Given the description of an element on the screen output the (x, y) to click on. 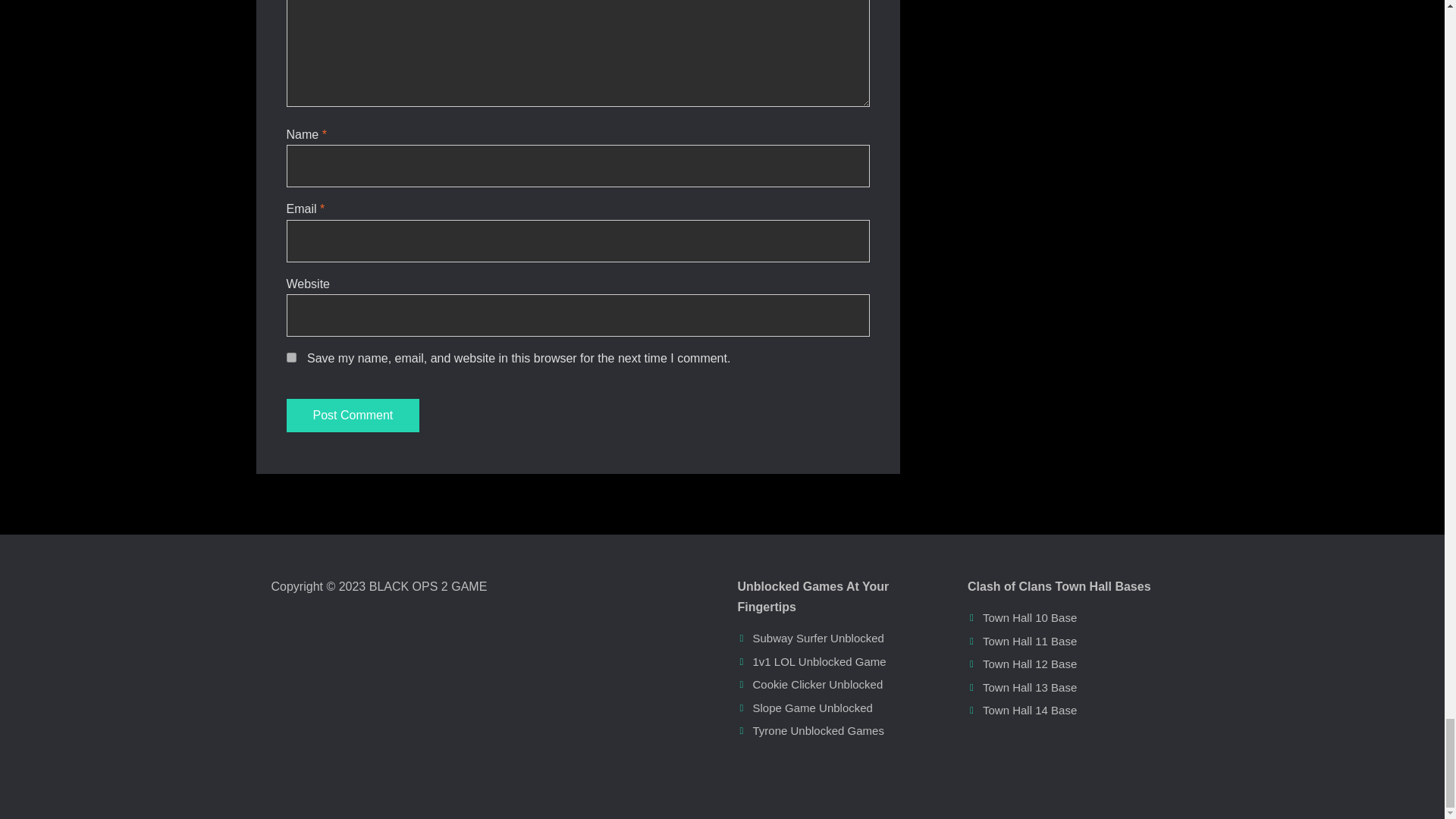
yes (291, 357)
Post Comment (353, 415)
Post Comment (353, 415)
